Given the description of an element on the screen output the (x, y) to click on. 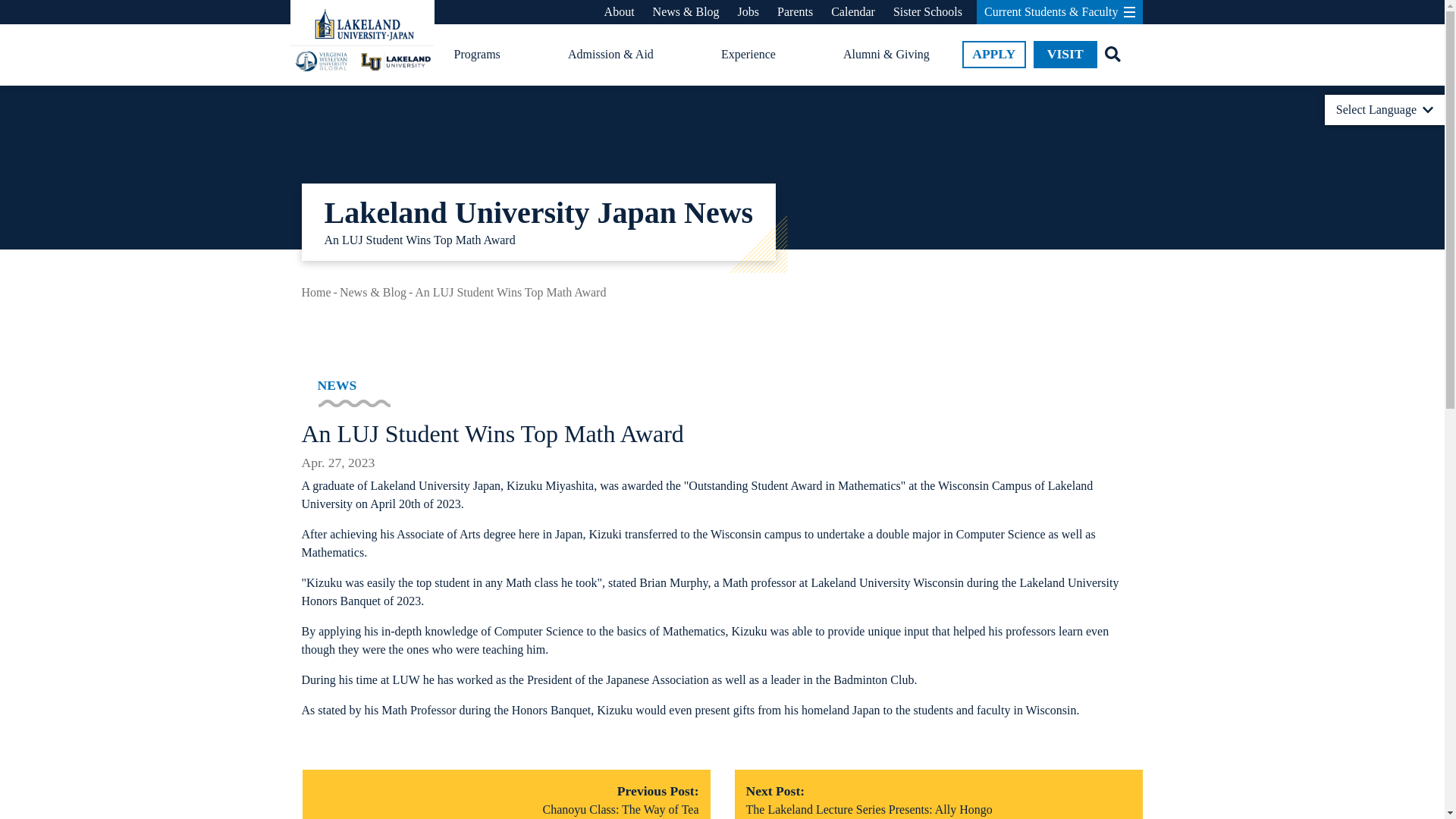
APPLY (994, 53)
Jobs (747, 12)
Experience (748, 54)
Programs (476, 54)
Sister Schools (927, 12)
Parents (794, 12)
VISIT (1065, 53)
About (619, 12)
Calendar (853, 12)
